Given the description of an element on the screen output the (x, y) to click on. 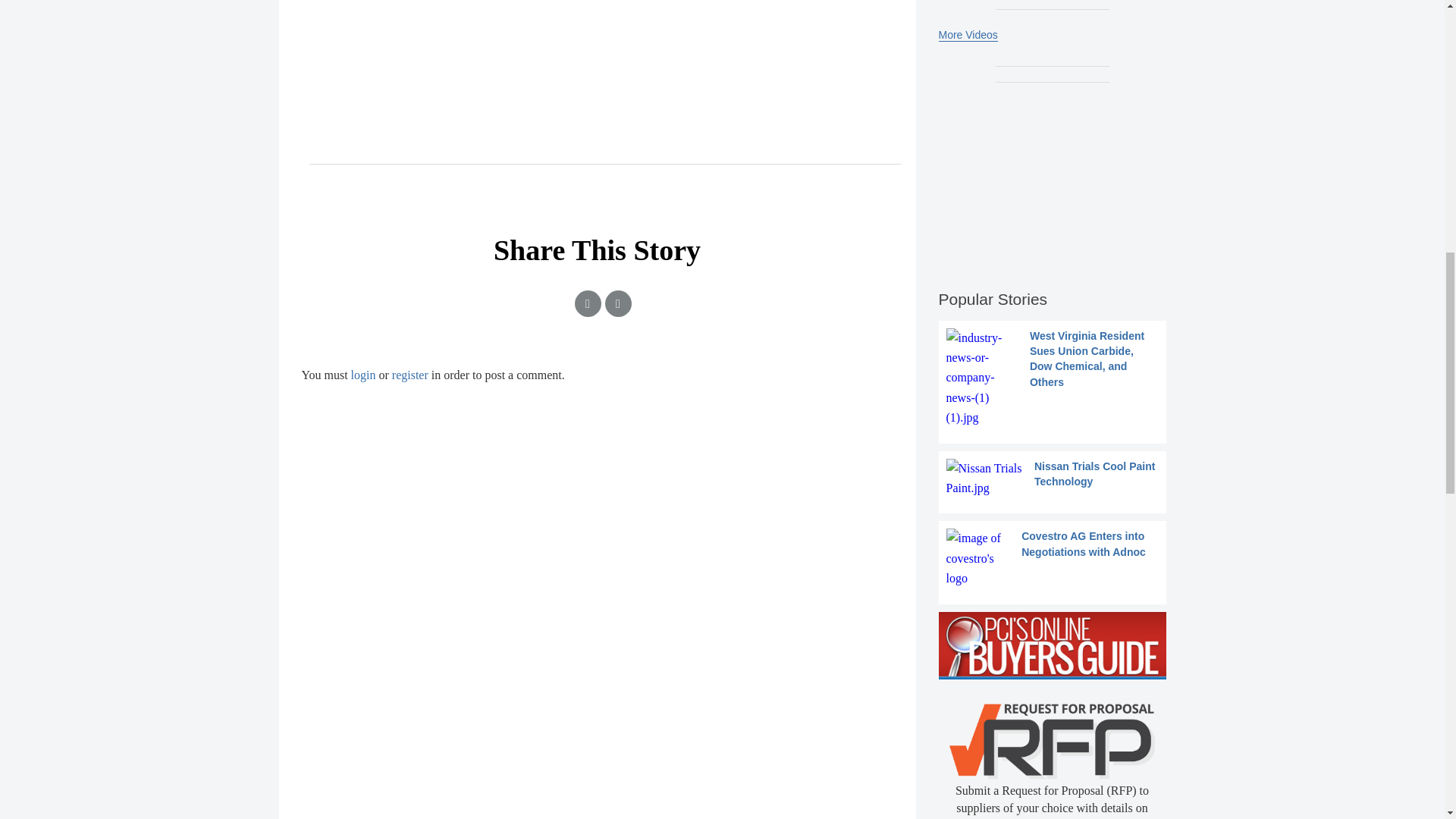
Nissan Trials Cool Paint Technology (1052, 478)
Covestro AG Enters into Negotiations with Adnoc (1052, 558)
